Given the description of an element on the screen output the (x, y) to click on. 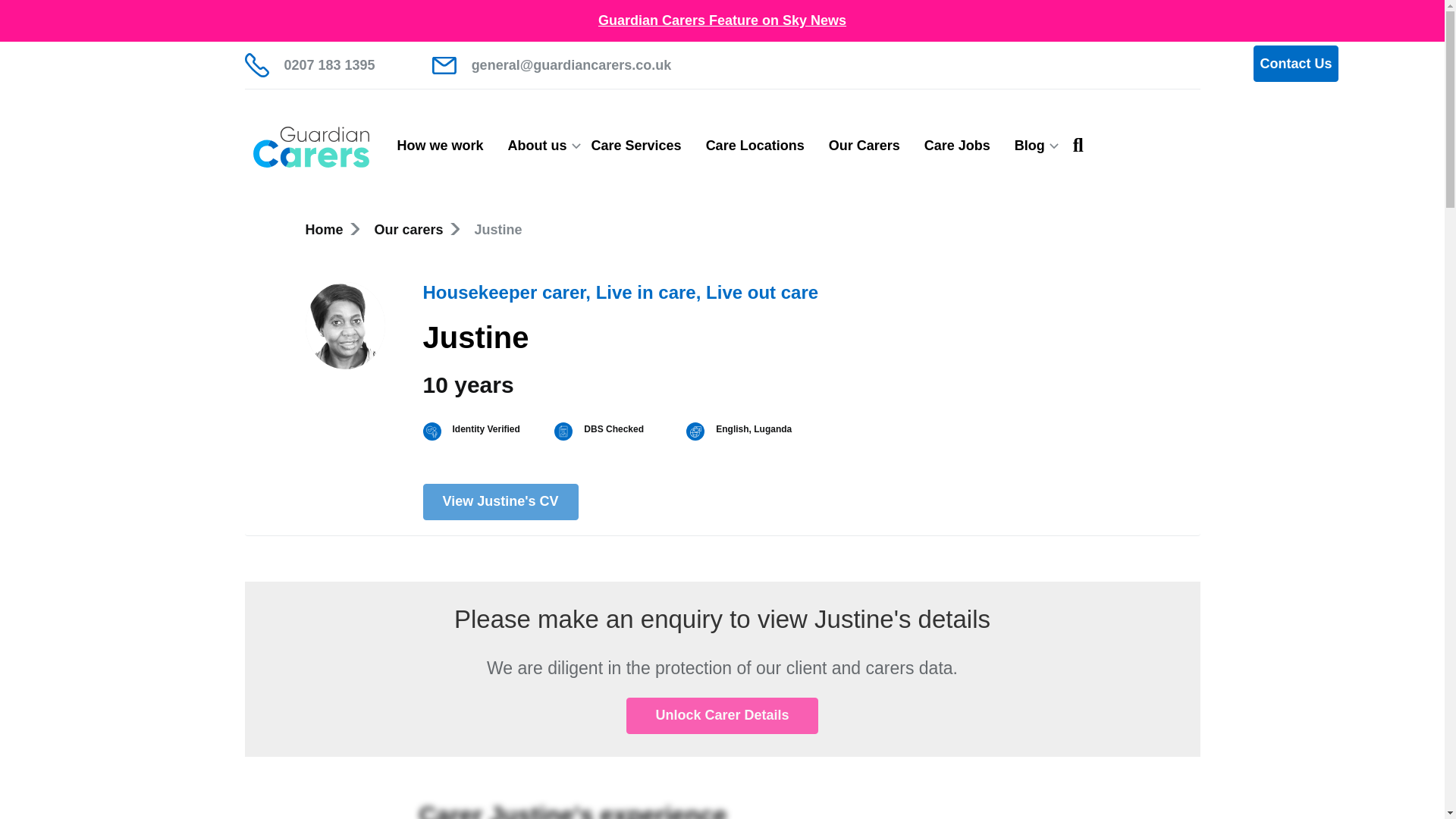
Care Locations (755, 145)
0207 183 1395 (309, 64)
Our Carers (864, 145)
Guardian Carers Feature on Sky News (721, 20)
View Justine's CV (500, 502)
Blog (1030, 145)
Our carers (409, 229)
Contact Us (1295, 63)
Home (323, 229)
Care Jobs (957, 145)
Care Services (636, 145)
About us (537, 145)
How we work (440, 145)
Unlock Carer Details (722, 715)
